Given the description of an element on the screen output the (x, y) to click on. 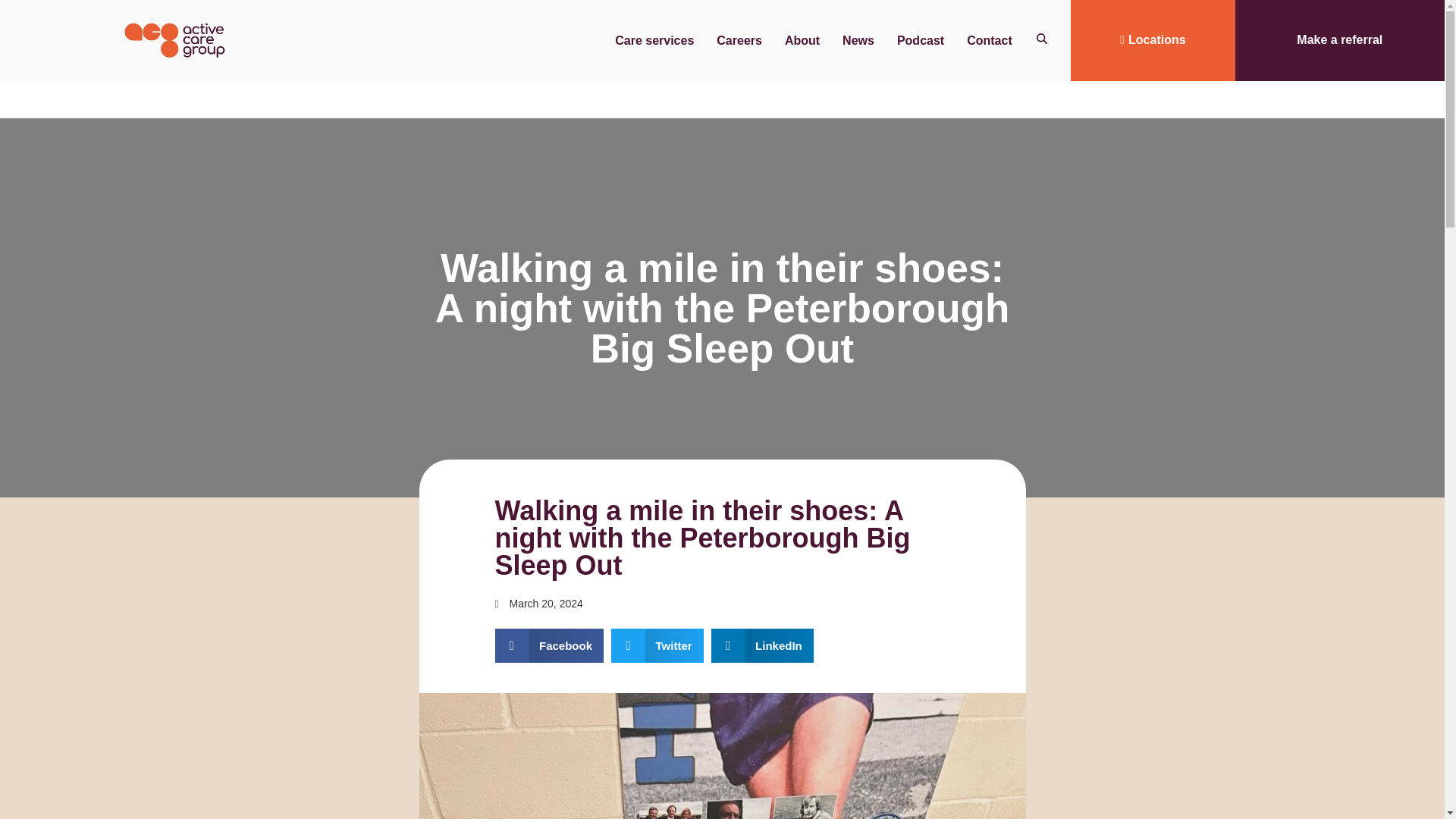
Podcast (920, 39)
March 20, 2024 (538, 603)
Locations (1153, 40)
Care services (654, 39)
Contact (989, 39)
Make a referral (1339, 40)
Careers (738, 39)
